Given the description of an element on the screen output the (x, y) to click on. 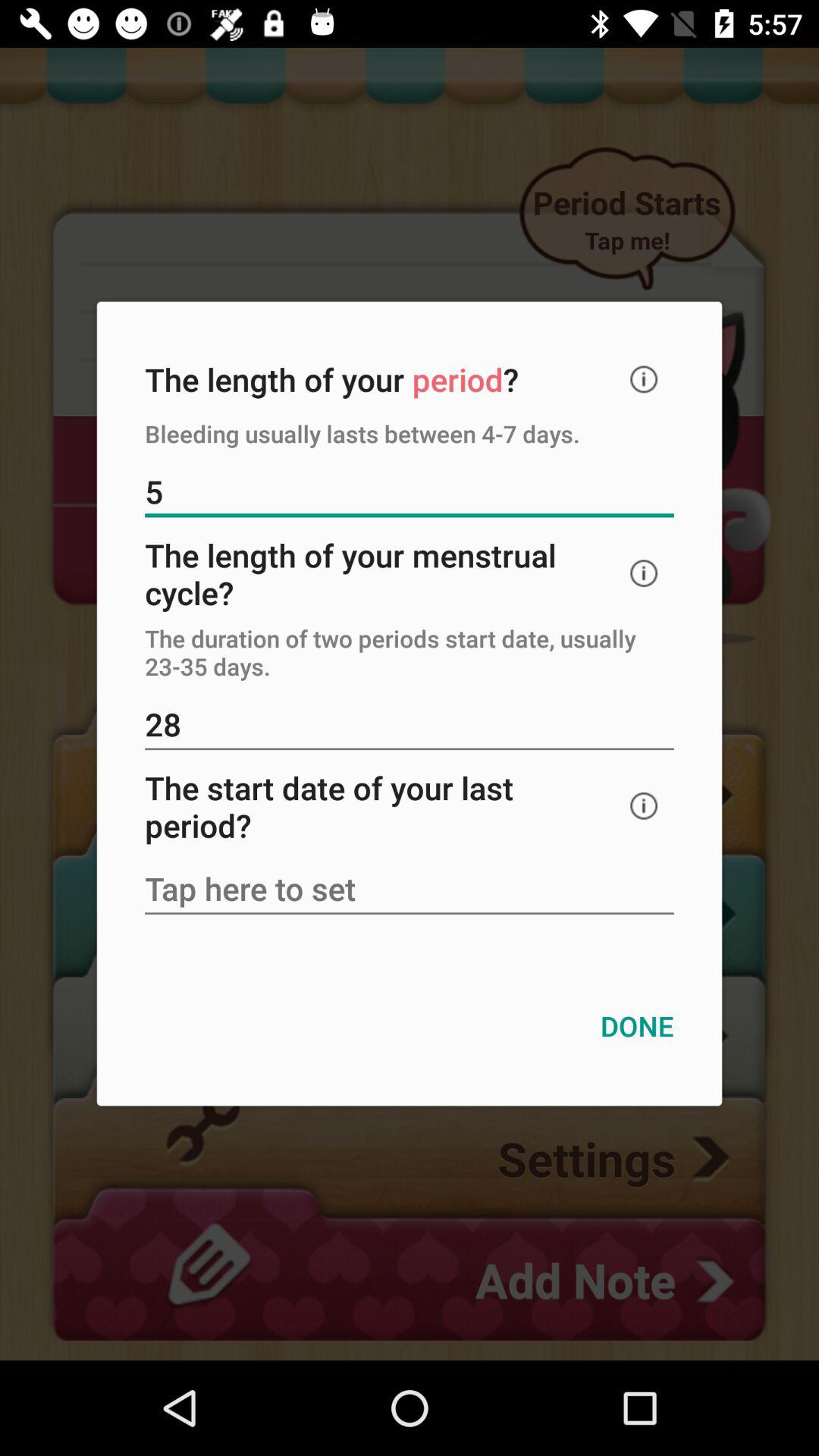
choose the icon below 28 icon (643, 806)
